Given the description of an element on the screen output the (x, y) to click on. 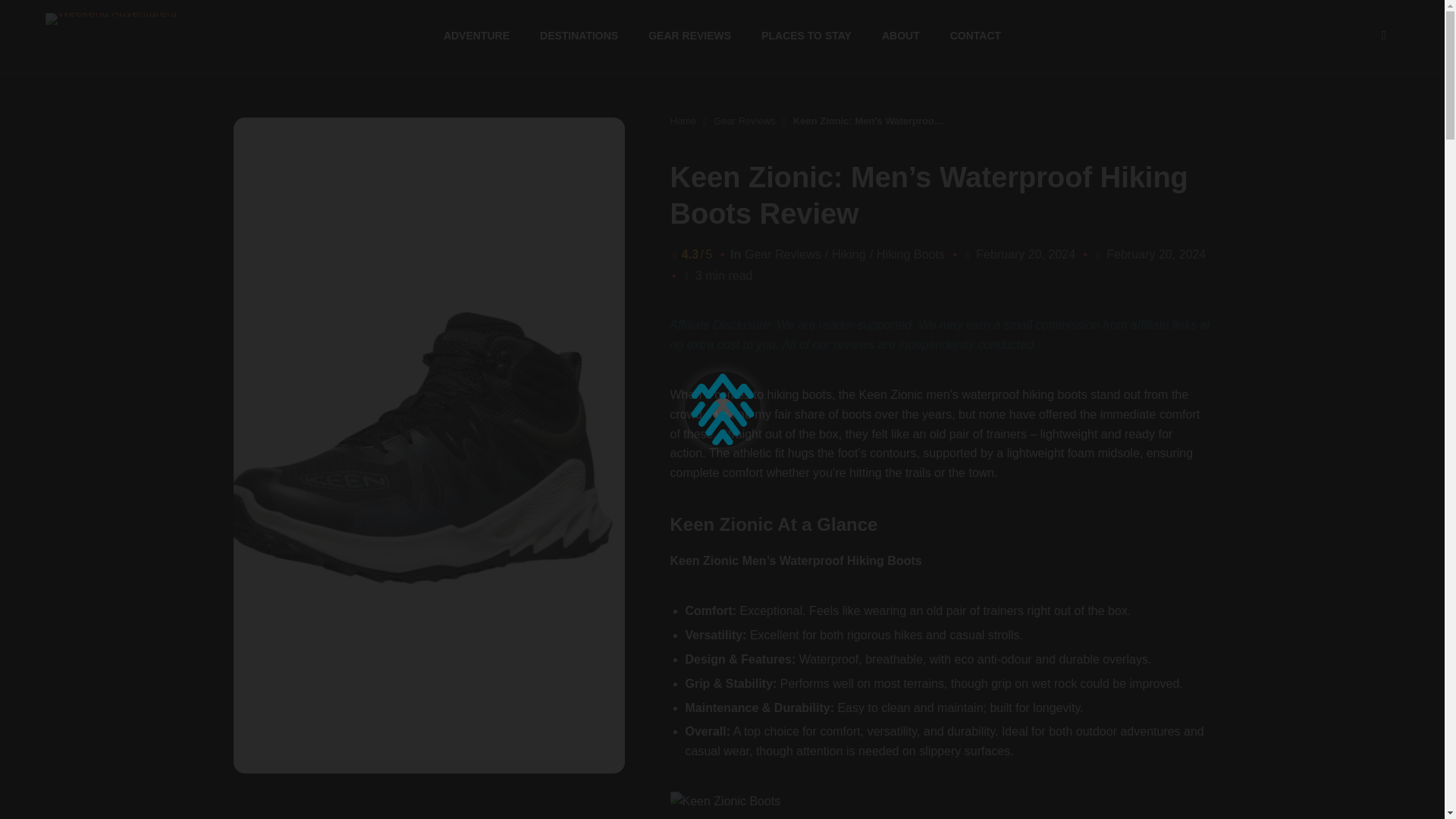
Hiking (847, 254)
Gear Reviews (782, 254)
DESTINATIONS (578, 36)
Hiking Boots (910, 254)
ADVENTURE (476, 36)
GEAR REVIEWS (688, 36)
PLACES TO STAY (806, 36)
